Given the description of an element on the screen output the (x, y) to click on. 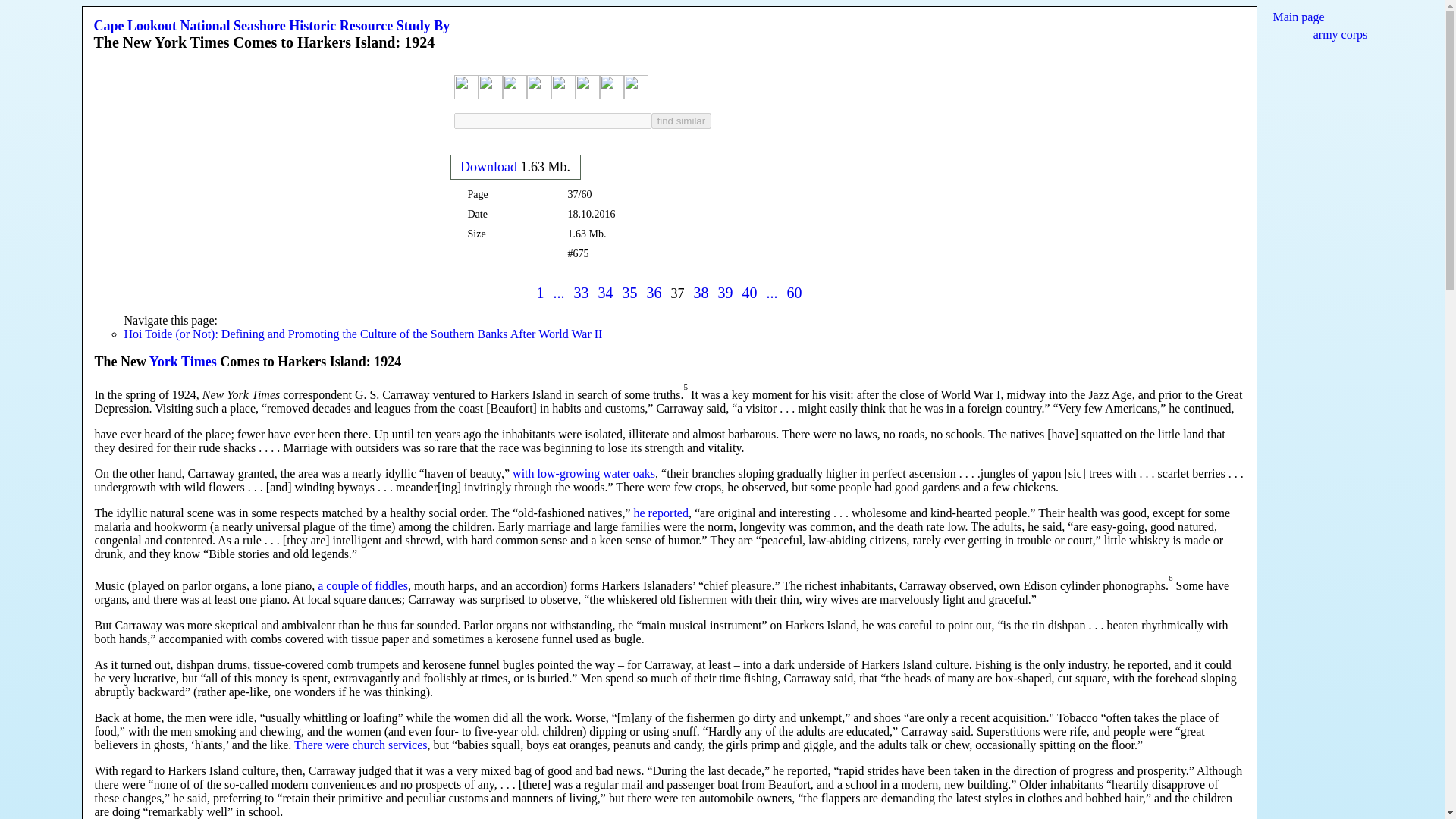
40 (749, 292)
a couple of fiddles (362, 585)
There were church services (360, 744)
39 (724, 292)
find similar (680, 119)
36 (653, 292)
38 (700, 292)
60 (794, 292)
find similar (680, 119)
with low-growing water oaks (583, 472)
he reported (660, 512)
34 (604, 292)
Download (488, 166)
York Times (182, 361)
33 (580, 292)
